Given the description of an element on the screen output the (x, y) to click on. 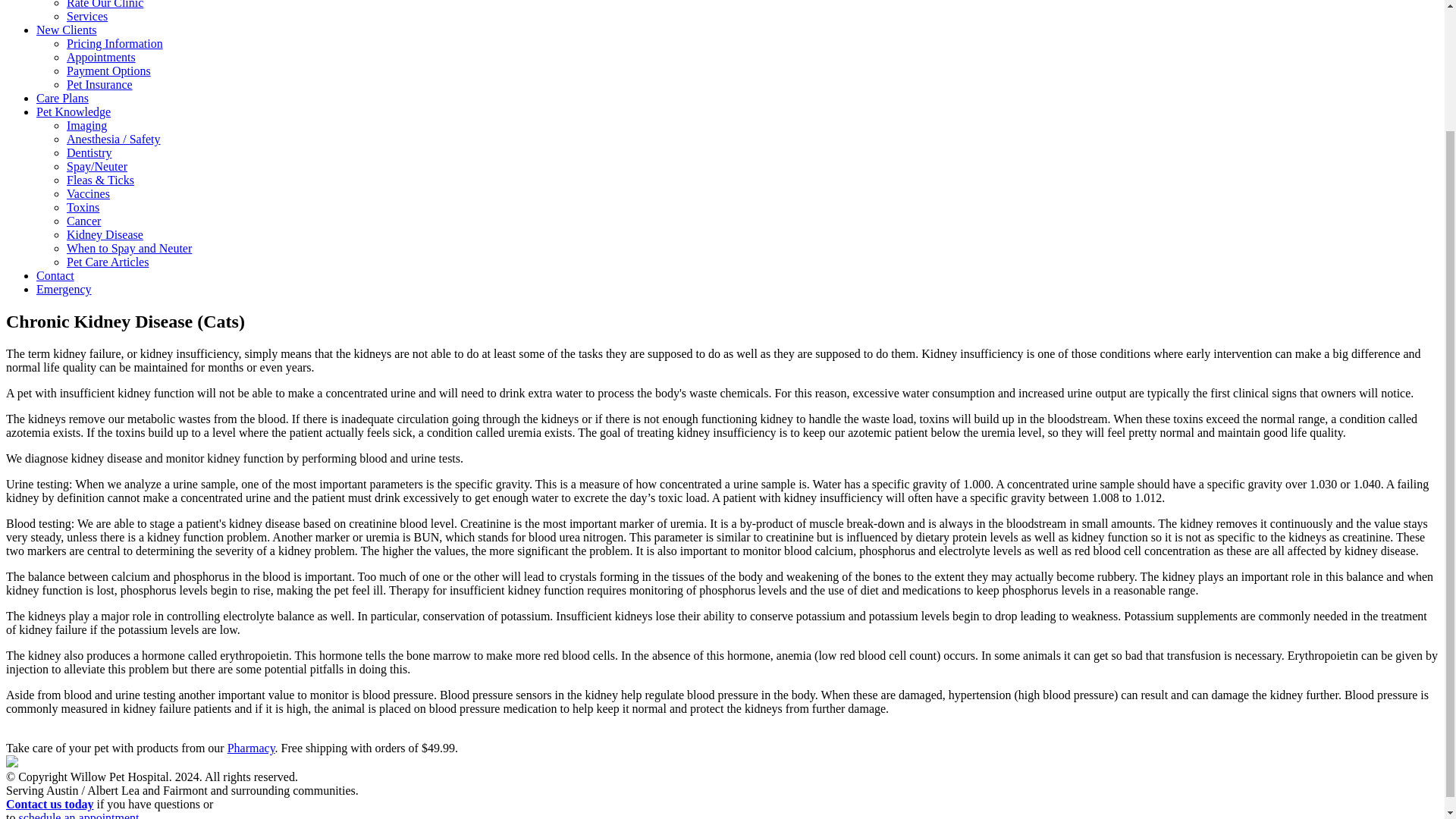
New Clients (66, 29)
When to Spay and Neuter (129, 247)
Pet Knowledge (73, 111)
Pet Insurance (99, 83)
Pet Care Articles (107, 261)
Kidney Disease (104, 234)
Payment Options (108, 70)
Rate Our Clinic (104, 4)
Contact us today (49, 803)
Appointments (100, 56)
Pharmacy (251, 748)
Pricing Information (114, 42)
Toxins (82, 206)
Care Plans (62, 97)
Services (86, 15)
